Given the description of an element on the screen output the (x, y) to click on. 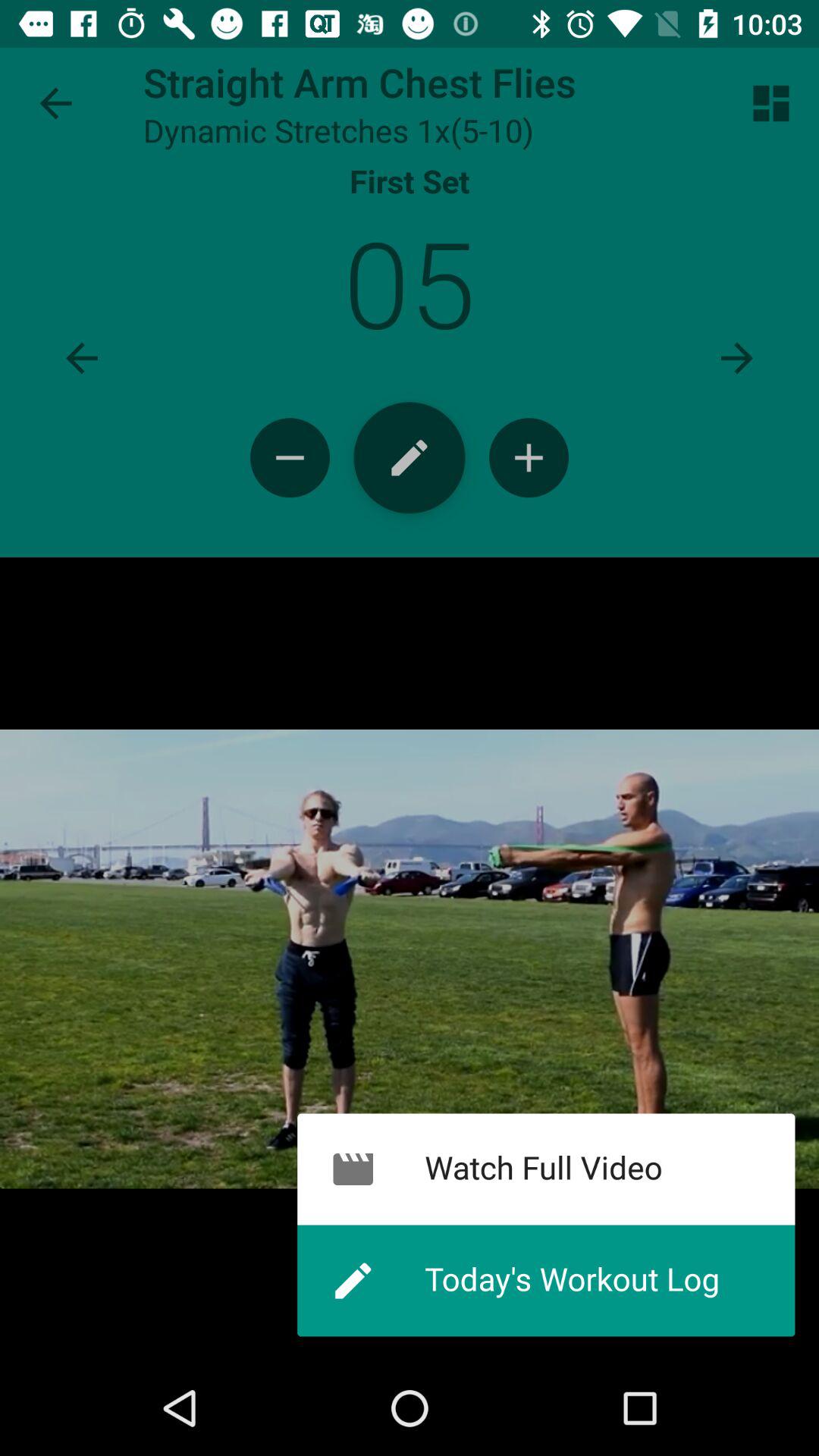
write a note (409, 457)
